Given the description of an element on the screen output the (x, y) to click on. 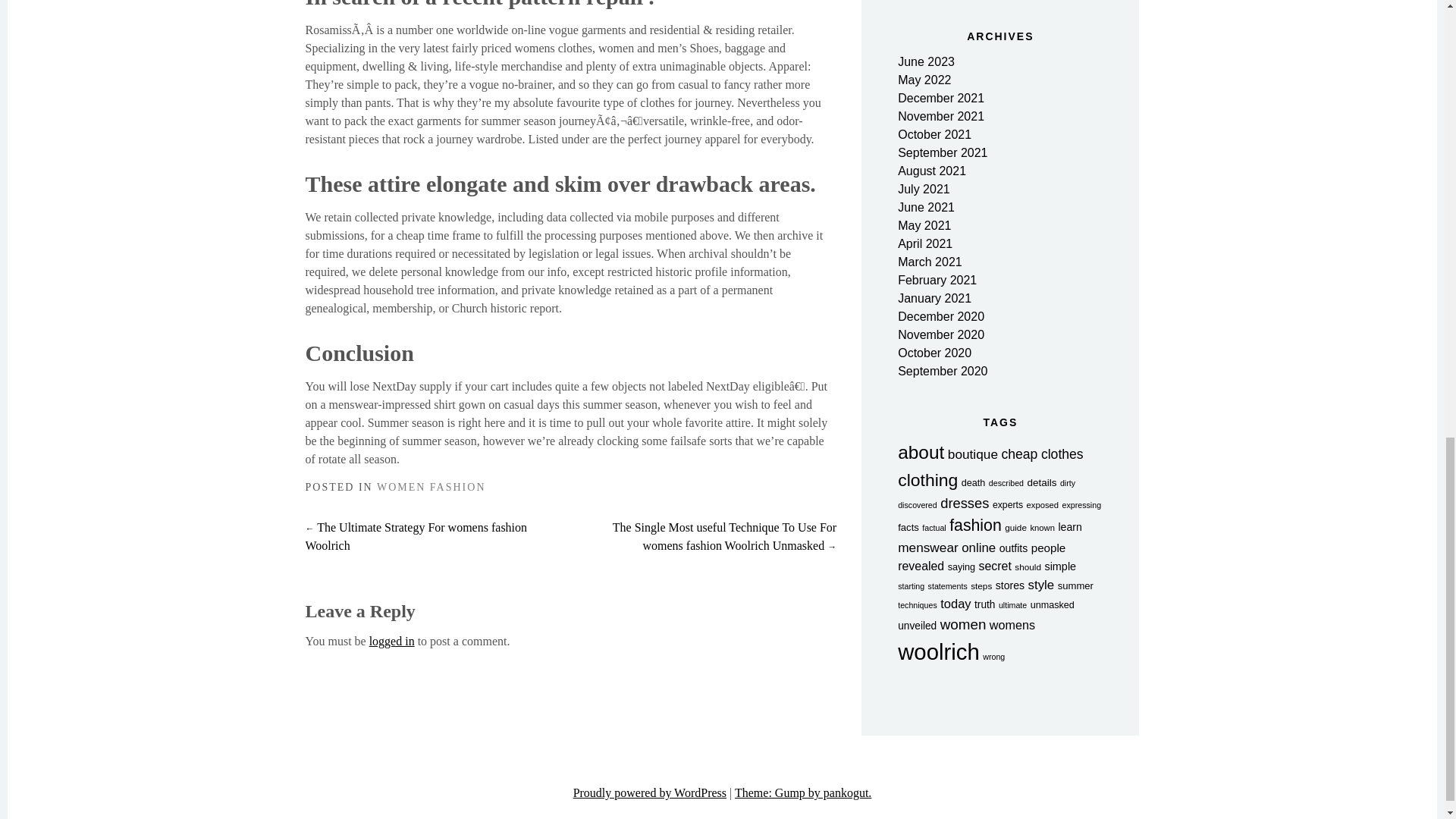
WOMEN FASHION (431, 487)
May 2022 (924, 79)
September 2021 (942, 152)
June 2023 (926, 61)
logged in (391, 640)
November 2021 (941, 115)
August 2021 (932, 170)
December 2021 (941, 97)
October 2021 (934, 133)
